Given the description of an element on the screen output the (x, y) to click on. 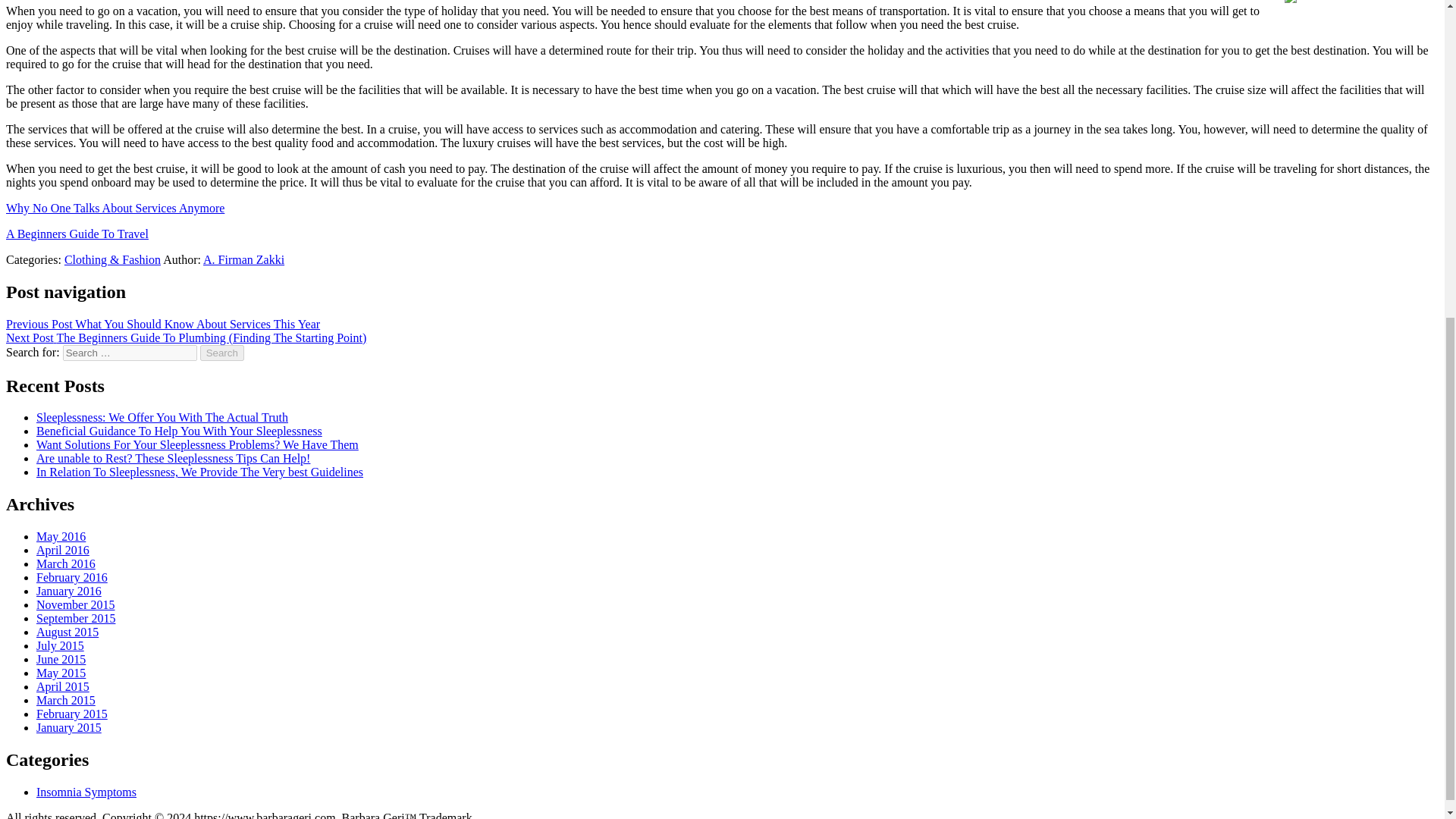
A. Firman Zakki (243, 259)
Are unable to Rest? These Sleeplessness Tips Can Help! (173, 458)
Beneficial Guidance To Help You With Your Sleeplessness (178, 431)
Why No One Talks About Services Anymore (114, 207)
A Beginners Guide To Travel (76, 233)
Search (222, 352)
May 2015 (60, 672)
July 2015 (60, 645)
March 2016 (66, 563)
November 2015 (75, 604)
February 2016 (71, 576)
Search (222, 352)
Insomnia Symptoms (86, 791)
April 2015 (62, 686)
Want Solutions For Your Sleeplessness Problems? We Have Them (197, 444)
